Given the description of an element on the screen output the (x, y) to click on. 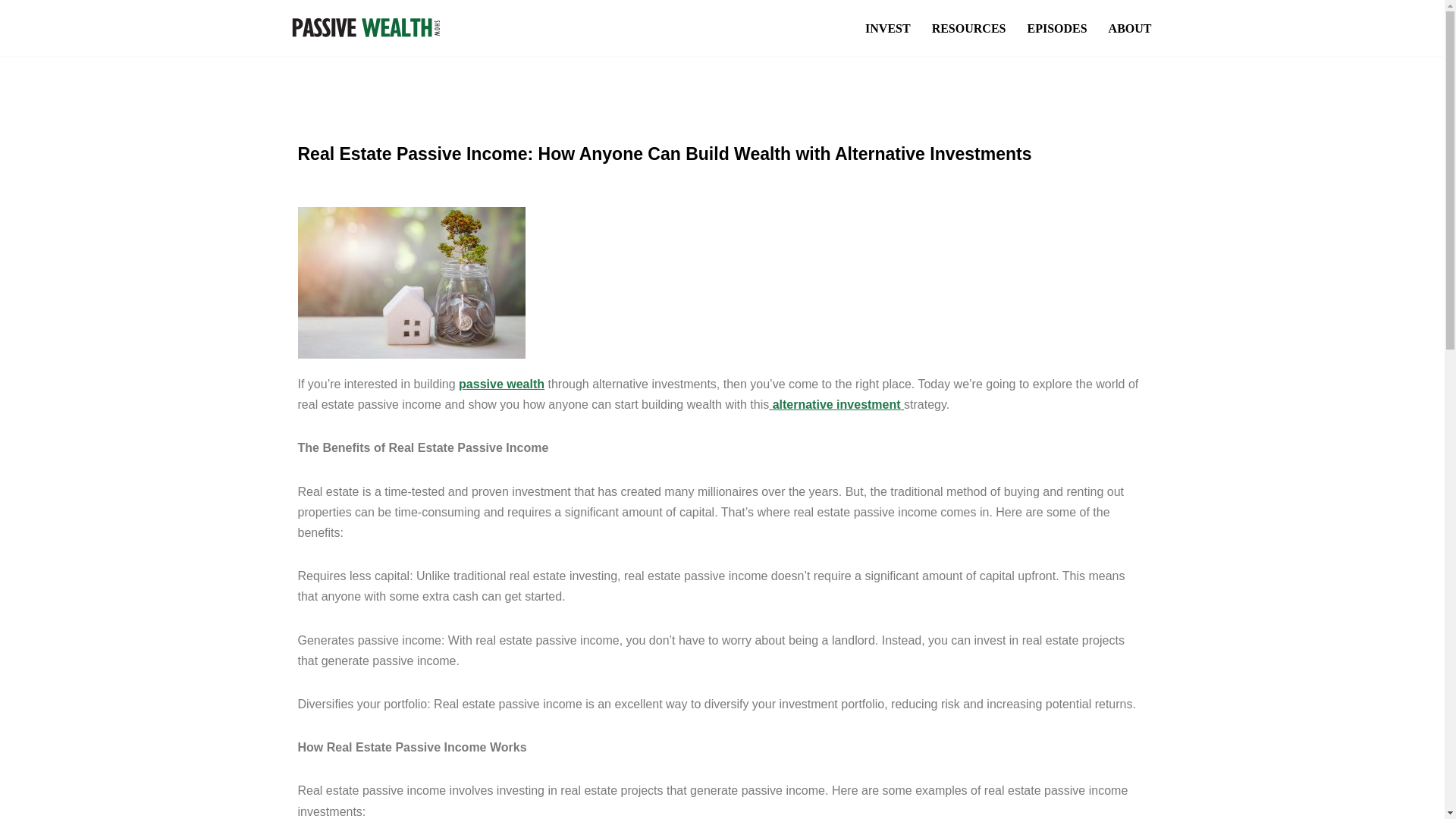
ABOUT (1129, 28)
alternative investment (836, 404)
passive wealth (502, 383)
EPISODES (1056, 28)
INVEST (887, 28)
RESOURCES (968, 28)
Skip to content (11, 31)
